Given the description of an element on the screen output the (x, y) to click on. 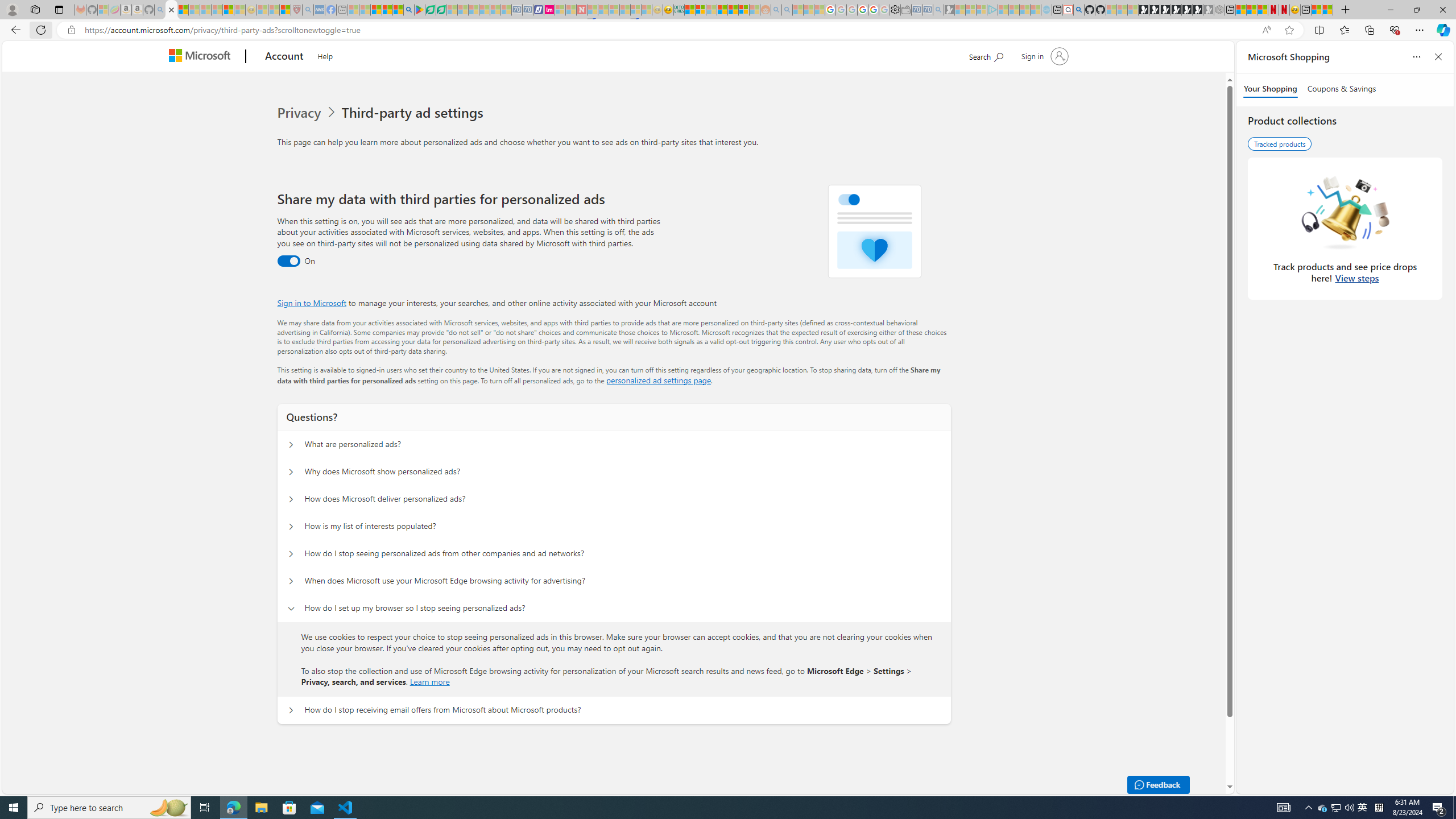
Questions? How is my list of interests populated? (290, 526)
Third party data sharing toggle (287, 260)
Third-party ad settings (414, 112)
